Given the description of an element on the screen output the (x, y) to click on. 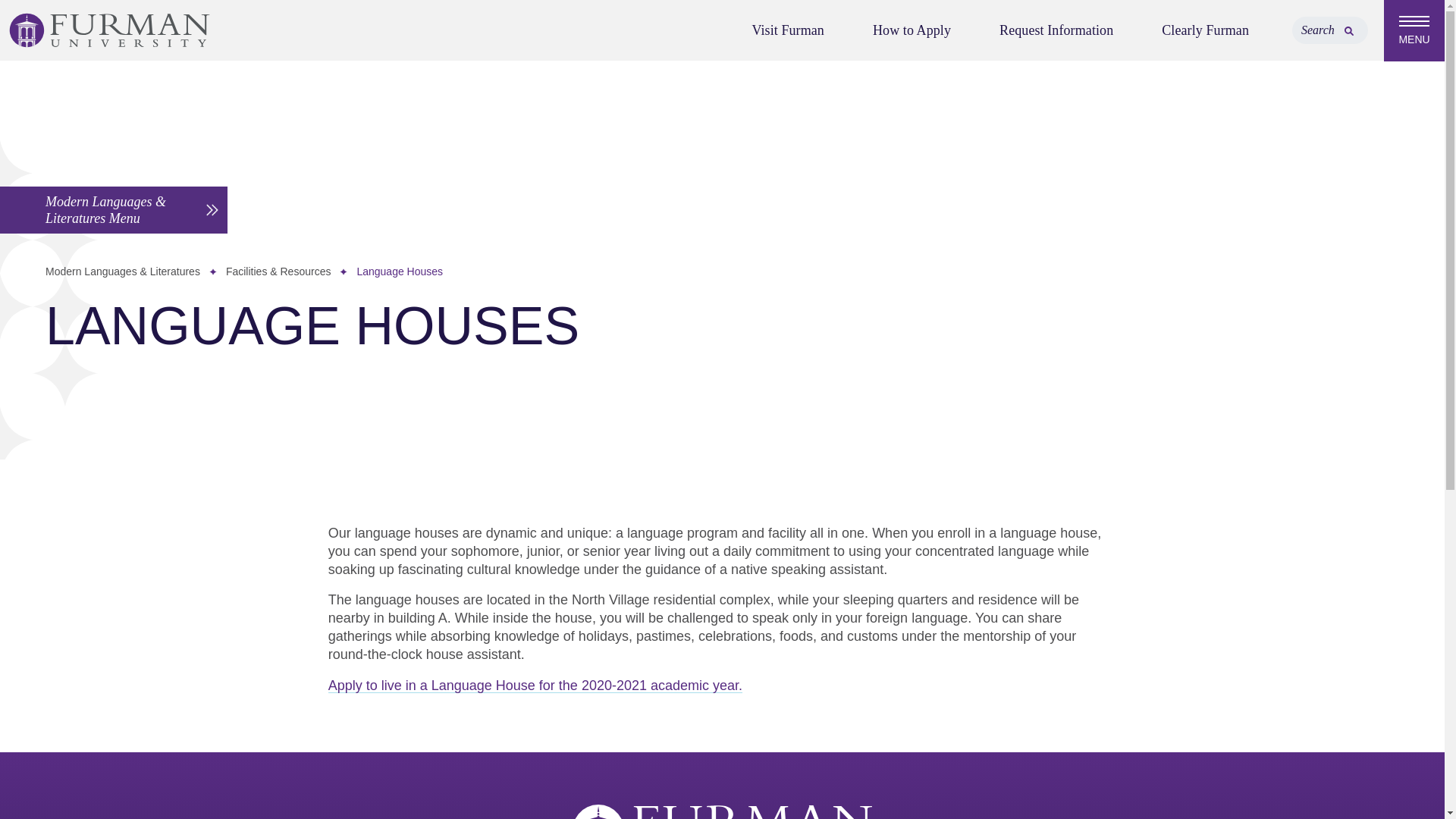
Clearly Furman (1204, 30)
How to Apply (911, 30)
Request Information (1056, 30)
Language Houses (399, 271)
Visit Furman (787, 30)
